Given the description of an element on the screen output the (x, y) to click on. 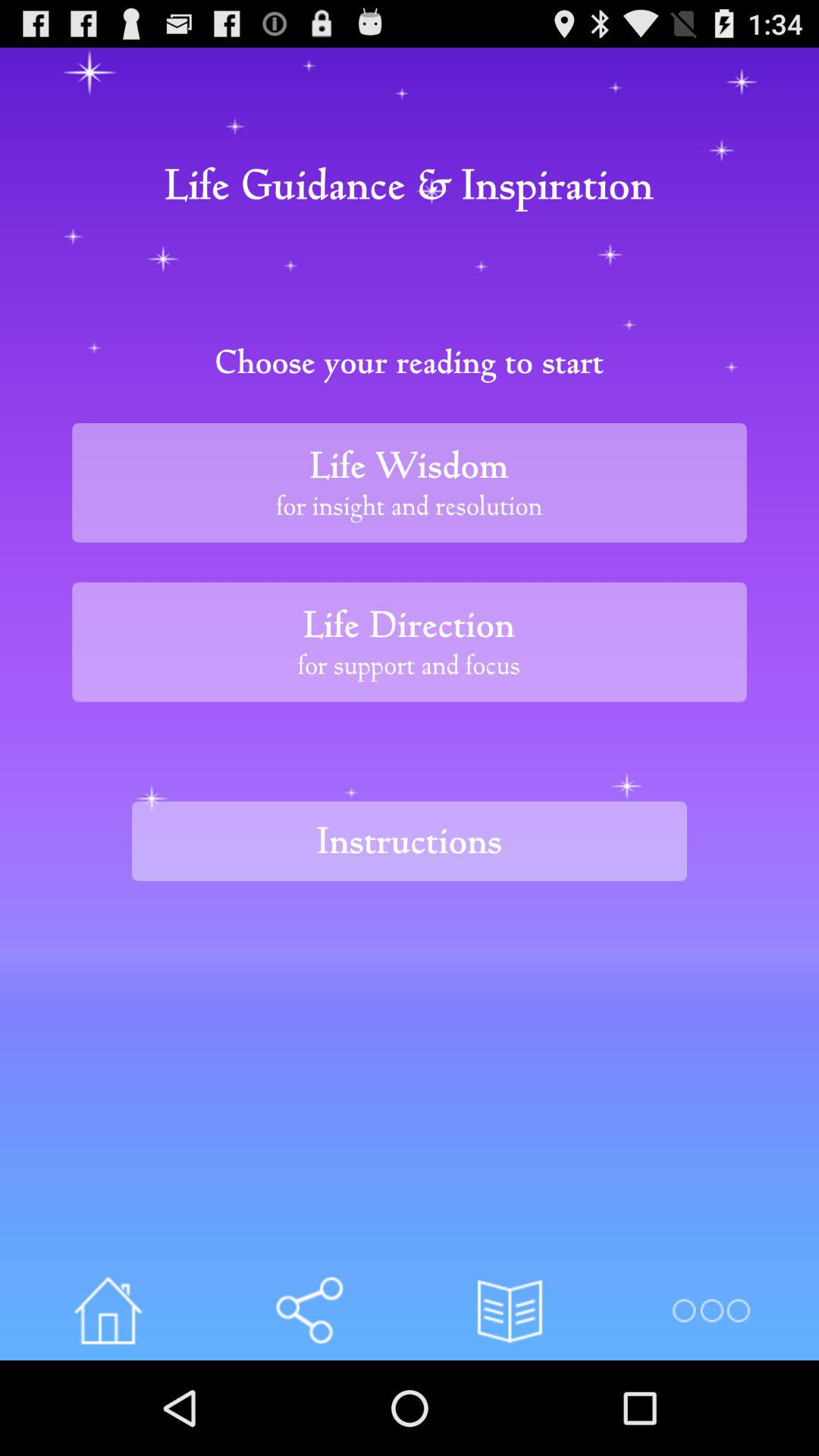
turn off icon below instructions (710, 1310)
